Given the description of an element on the screen output the (x, y) to click on. 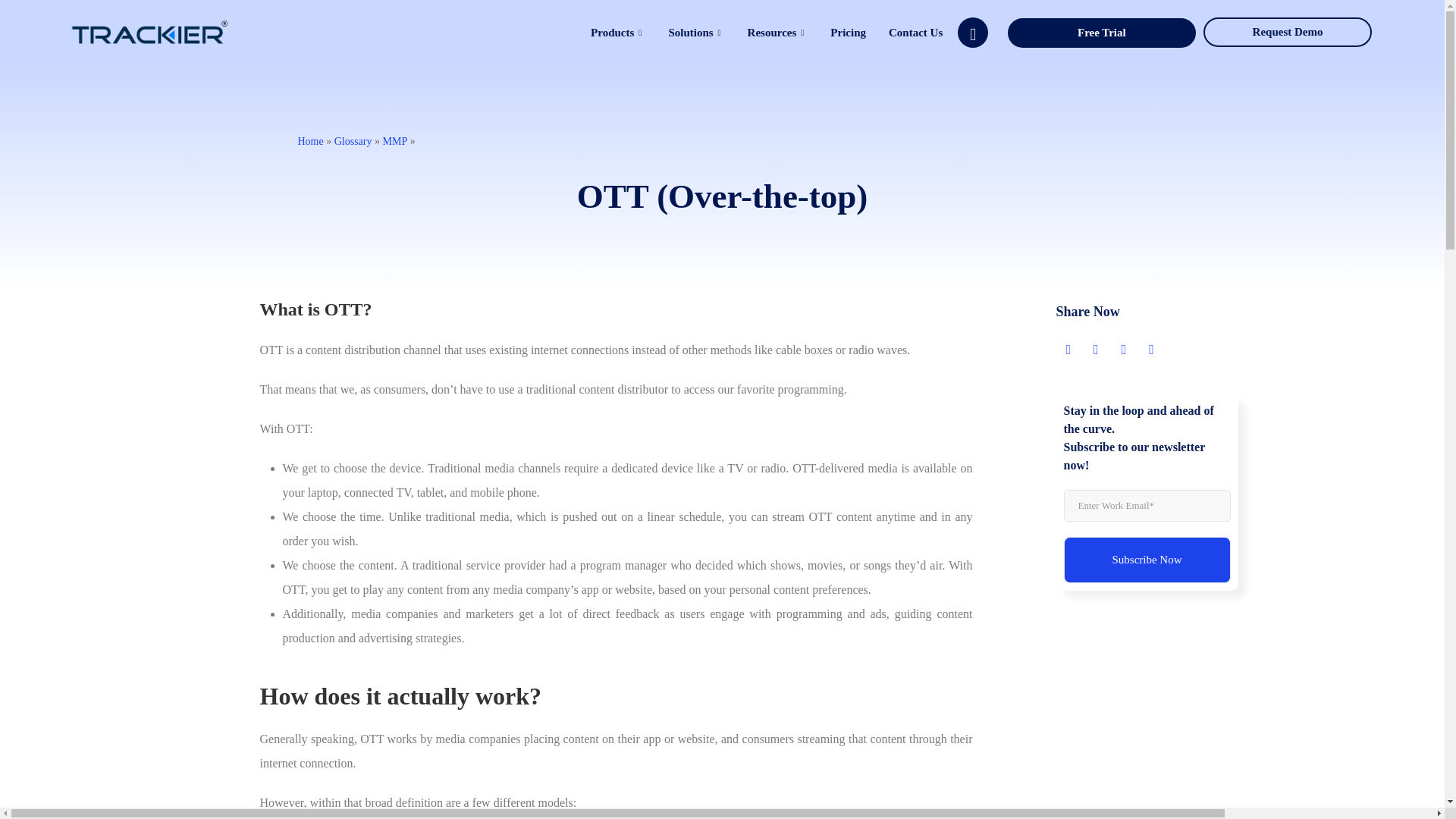
Solutions (695, 32)
Products (617, 32)
